Given the description of an element on the screen output the (x, y) to click on. 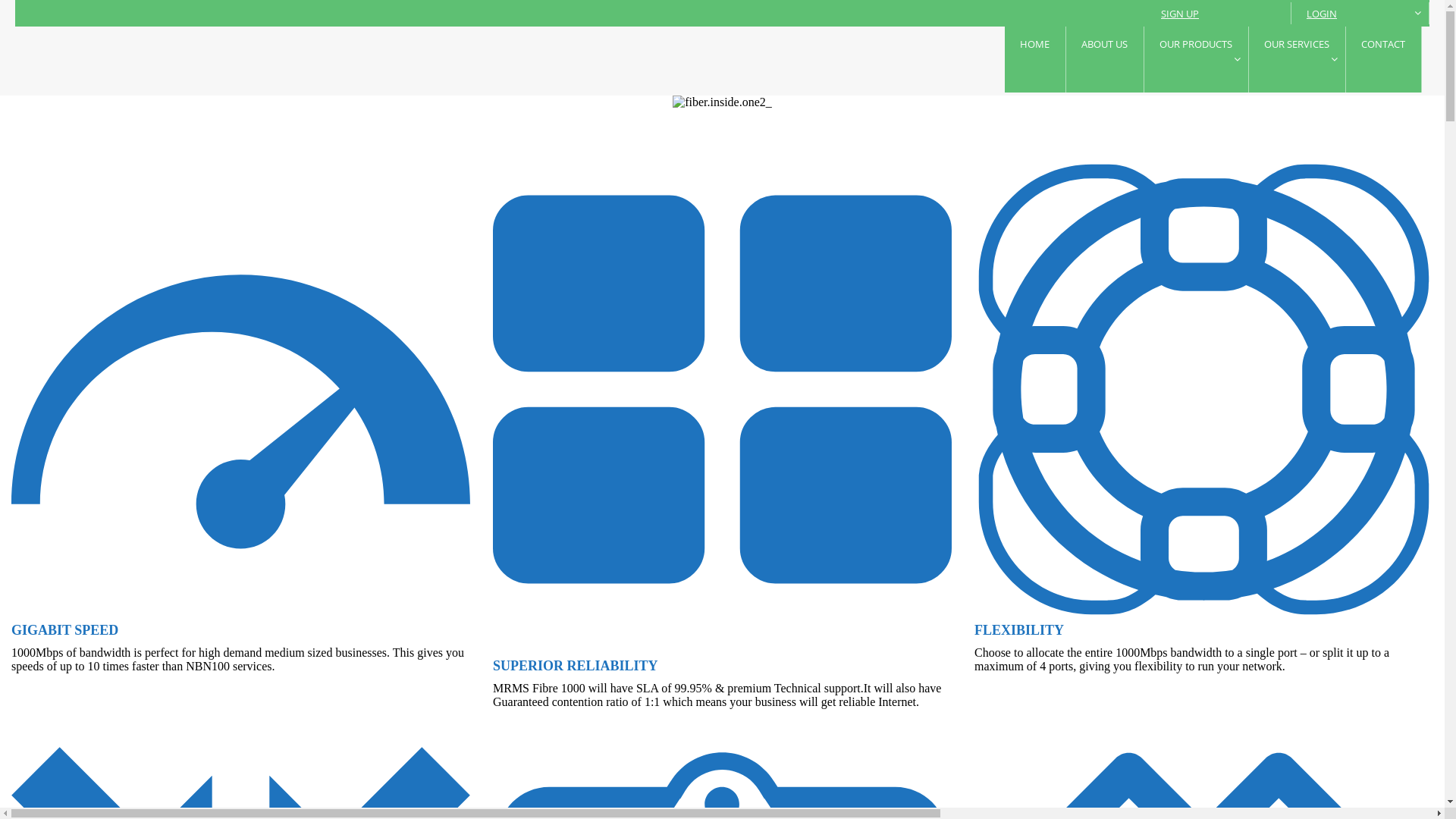
LOGIN Element type: text (1360, 13)
HOME Element type: text (1035, 59)
ABOUT US Element type: text (1105, 59)
SIGN UP Element type: text (1218, 13)
OUR PRODUCTS Element type: text (1196, 59)
OUR SERVICES Element type: text (1297, 59)
fiber.inside.one2_ Element type: hover (721, 102)
CONTACT Element type: text (1383, 59)
